Given the description of an element on the screen output the (x, y) to click on. 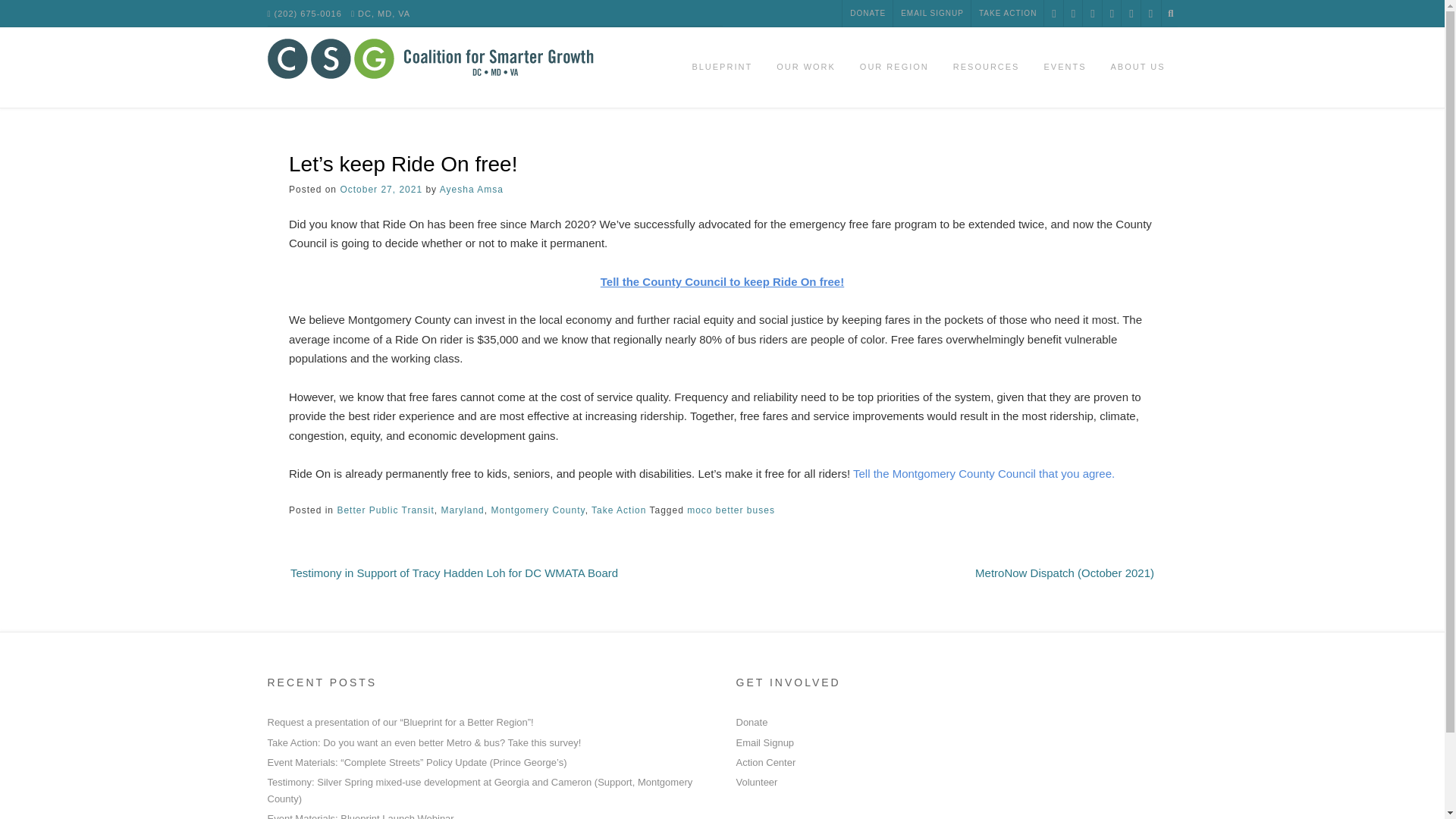
OUR REGION (893, 67)
DONATE (868, 13)
OUR WORK (805, 67)
EMAIL SIGNUP (932, 13)
TAKE ACTION (1007, 13)
BLUEPRINT (721, 67)
